Given the description of an element on the screen output the (x, y) to click on. 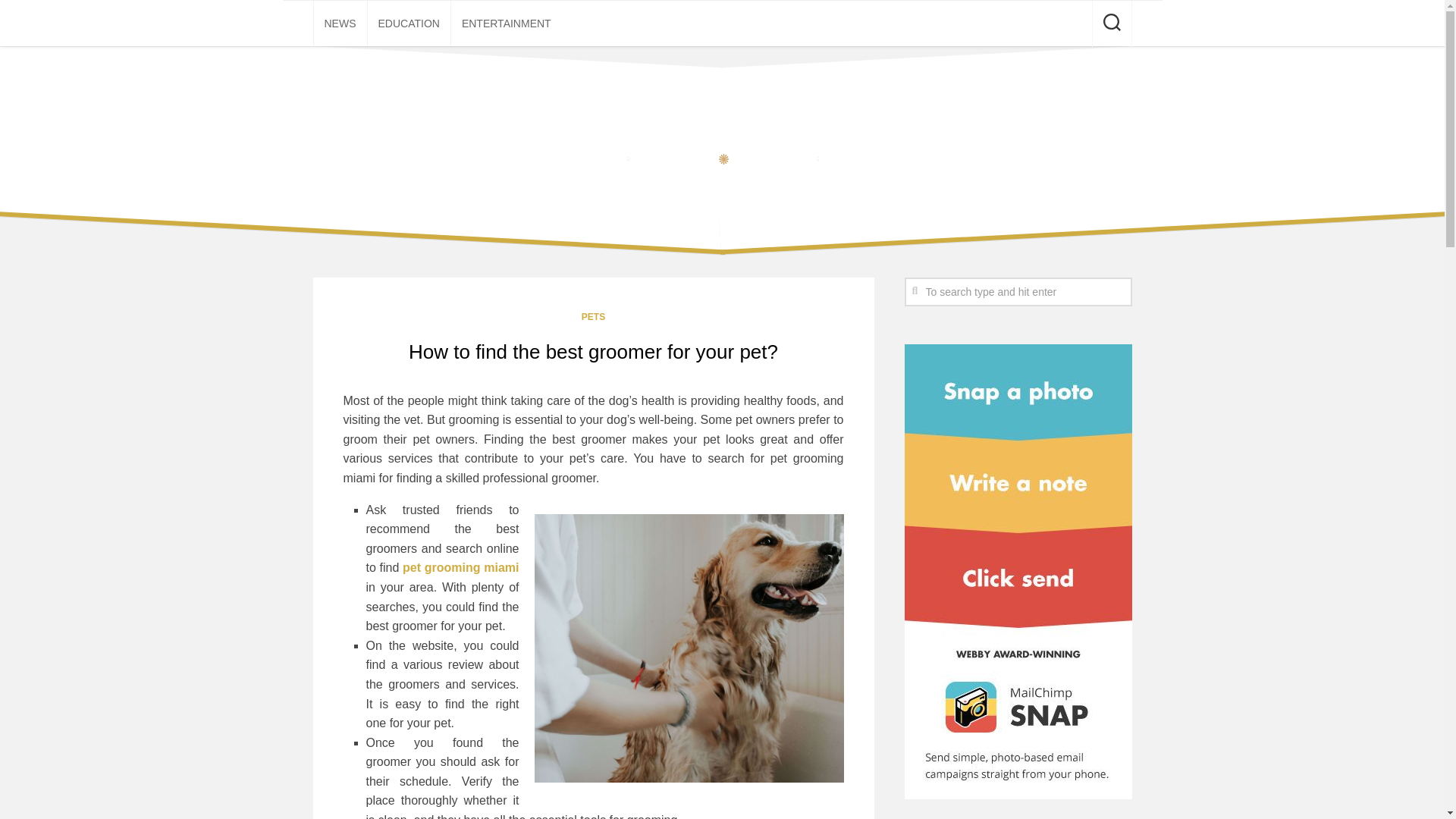
EDUCATION (408, 23)
To search type and hit enter (1017, 291)
PETS (592, 317)
To search type and hit enter (1017, 291)
pet grooming miami (460, 567)
How to find the best groomer for your pet? (593, 351)
ENTERTAINMENT (506, 23)
NEWS (340, 23)
